Given the description of an element on the screen output the (x, y) to click on. 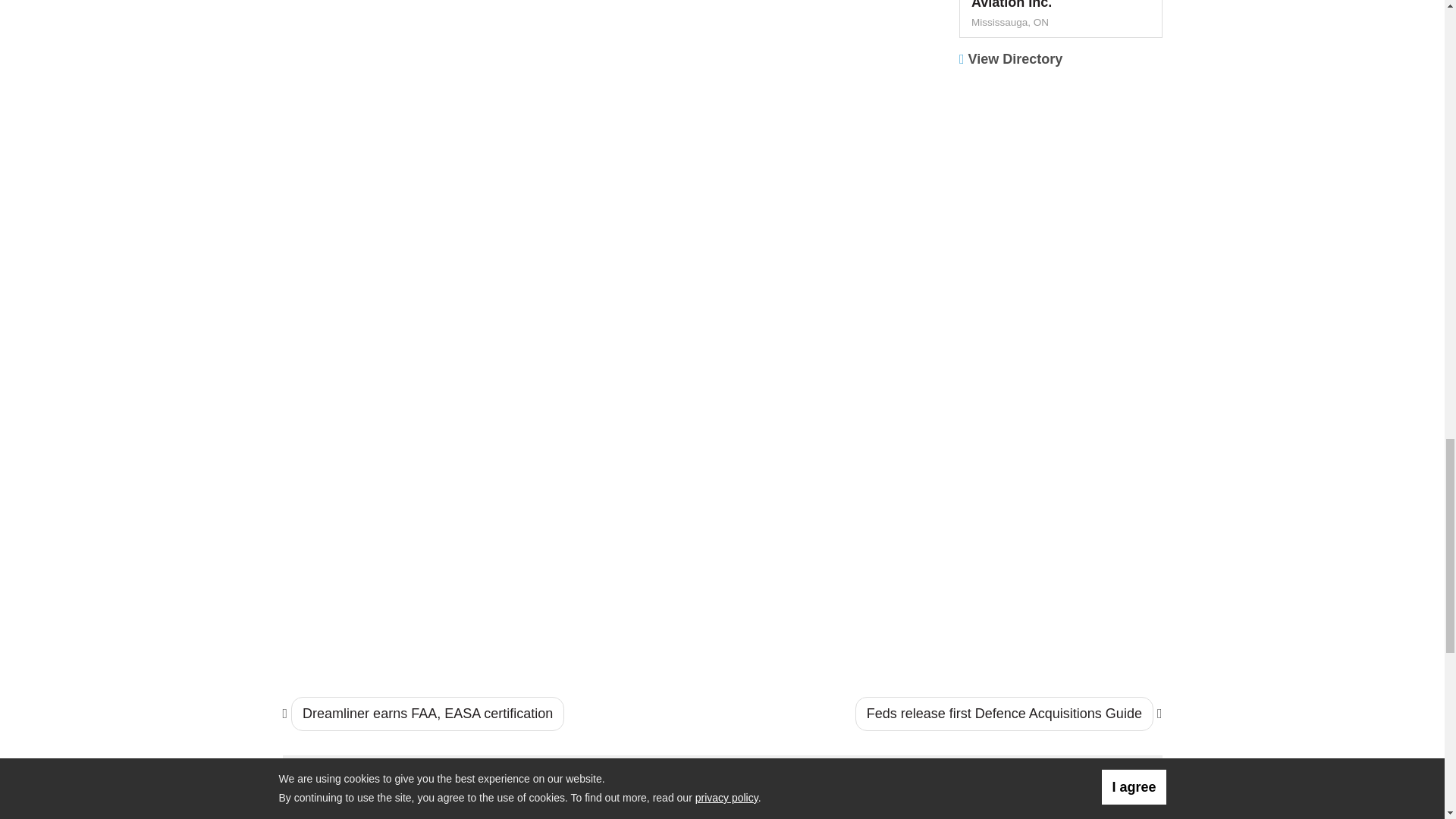
3rd party ad content (1060, 570)
3rd party ad content (1060, 176)
3rd party ad content (1060, 372)
Wings Magazine (395, 793)
